Given the description of an element on the screen output the (x, y) to click on. 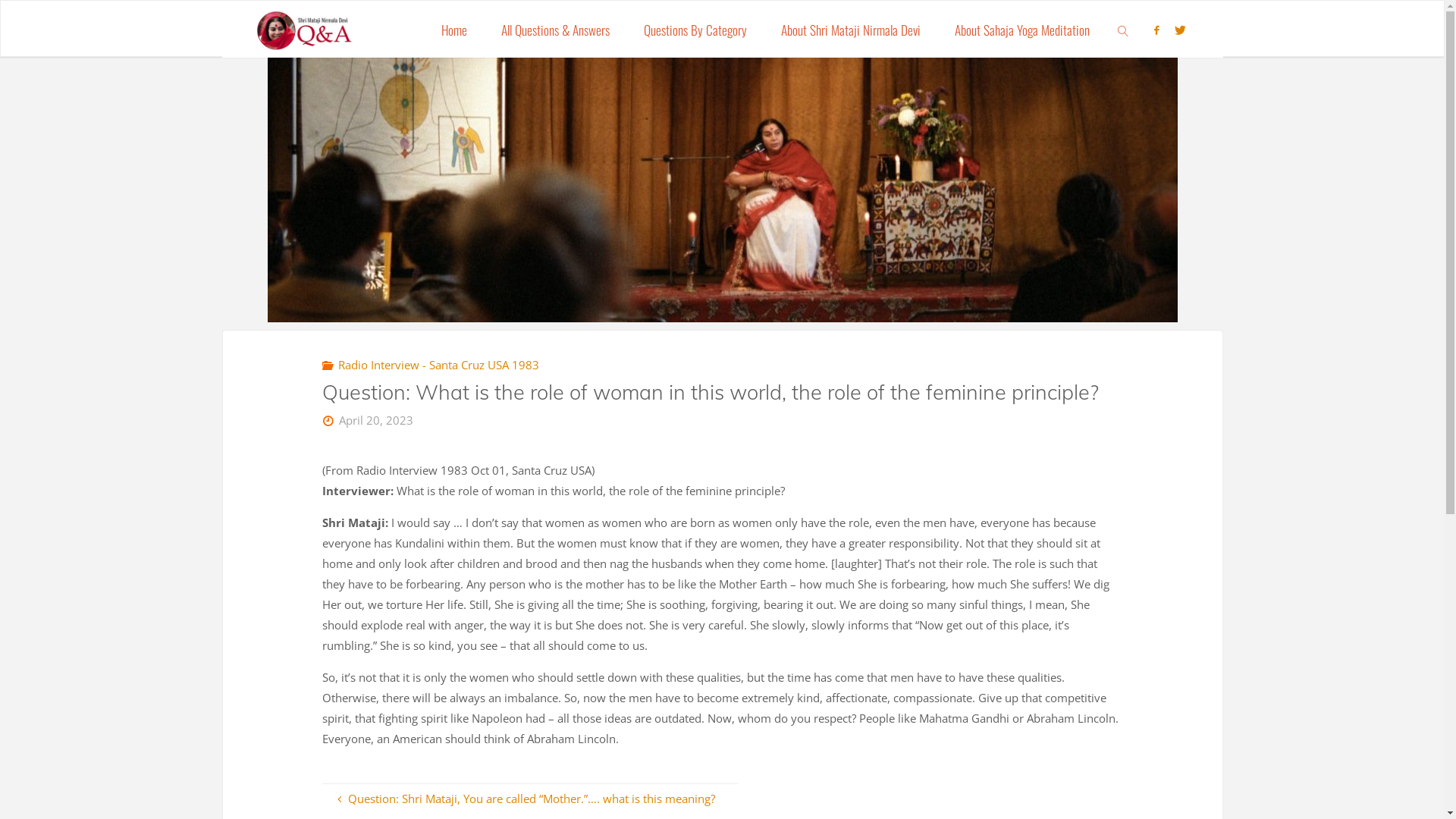
Search Element type: text (1123, 28)
About Sahaja Yoga Meditation Element type: text (1021, 28)
Categories Element type: hover (328, 364)
Home Element type: text (454, 28)
Twitter Element type: hover (1179, 29)
About Shri Mataji Nirmala Devi Element type: text (850, 28)
Facebook Element type: hover (1155, 29)
Date Element type: hover (328, 419)
Radio Interview - Santa Cruz USA 1983 Element type: text (437, 364)
All Questions & Answers Element type: text (555, 28)
Questions By Category Element type: text (694, 28)
